Given the description of an element on the screen output the (x, y) to click on. 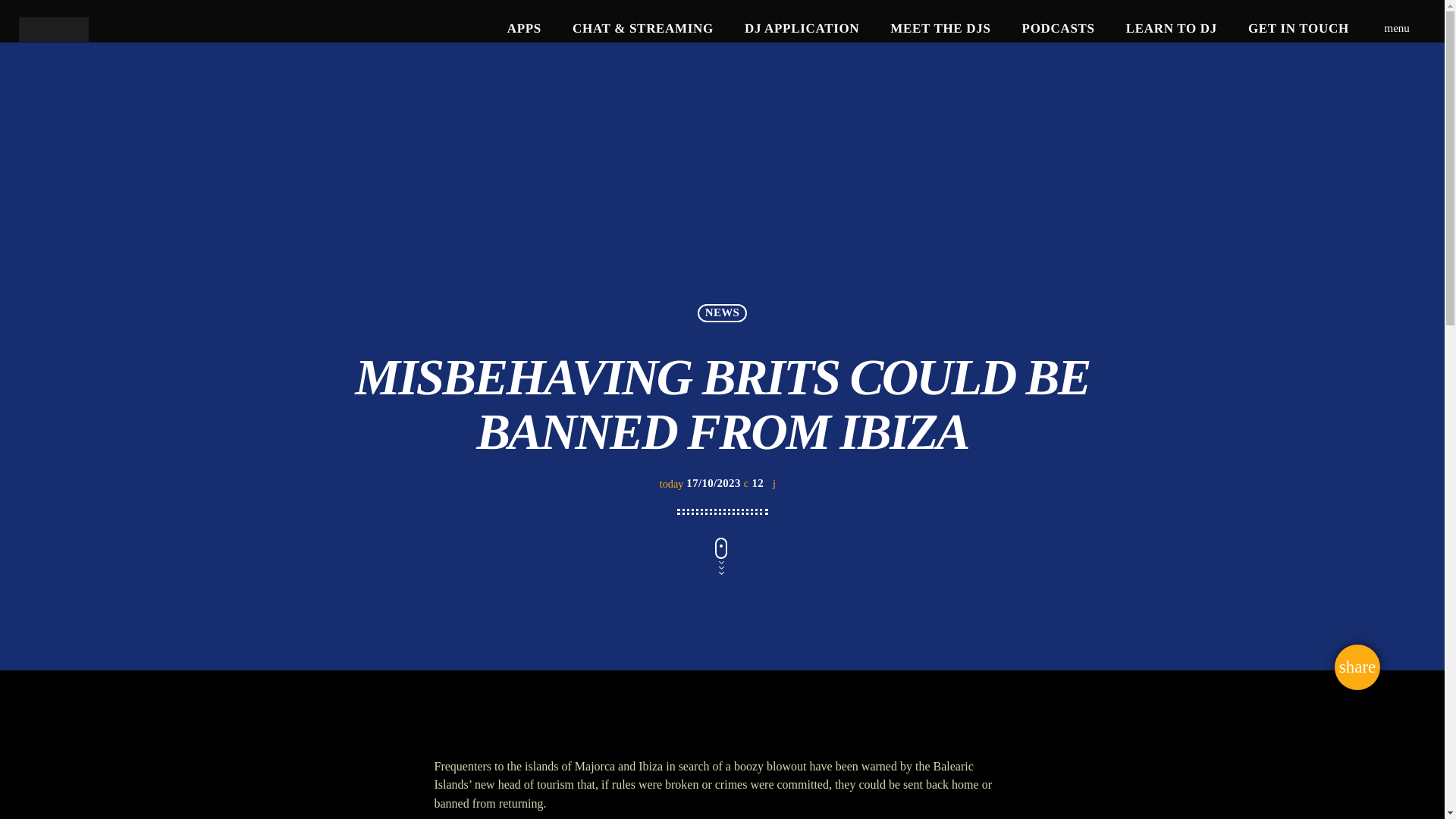
email (1357, 666)
NEWS (721, 312)
menu (1396, 28)
GET IN TOUCH (1297, 29)
MEET THE DJS (940, 29)
PODCASTS (1057, 29)
DJ APPLICATION (802, 29)
APPS (524, 29)
LEARN TO DJ (1170, 29)
